Given the description of an element on the screen output the (x, y) to click on. 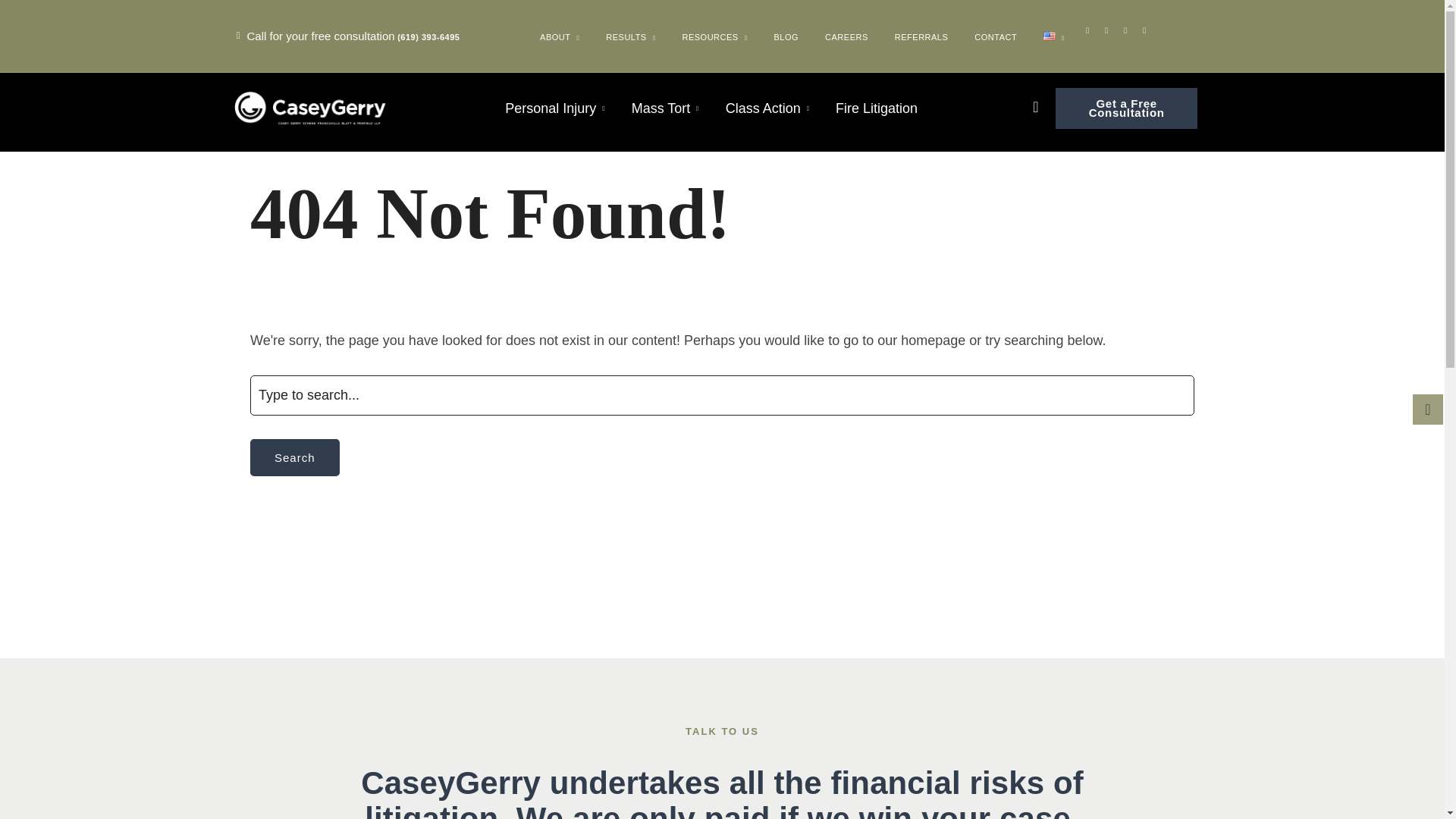
BLOG (786, 37)
Personal Injury (554, 108)
CAREERS (846, 37)
RESOURCES (714, 42)
REFERRALS (921, 37)
RESULTS (630, 42)
Search (294, 457)
CONTACT (995, 37)
ABOUT (559, 42)
